Given the description of an element on the screen output the (x, y) to click on. 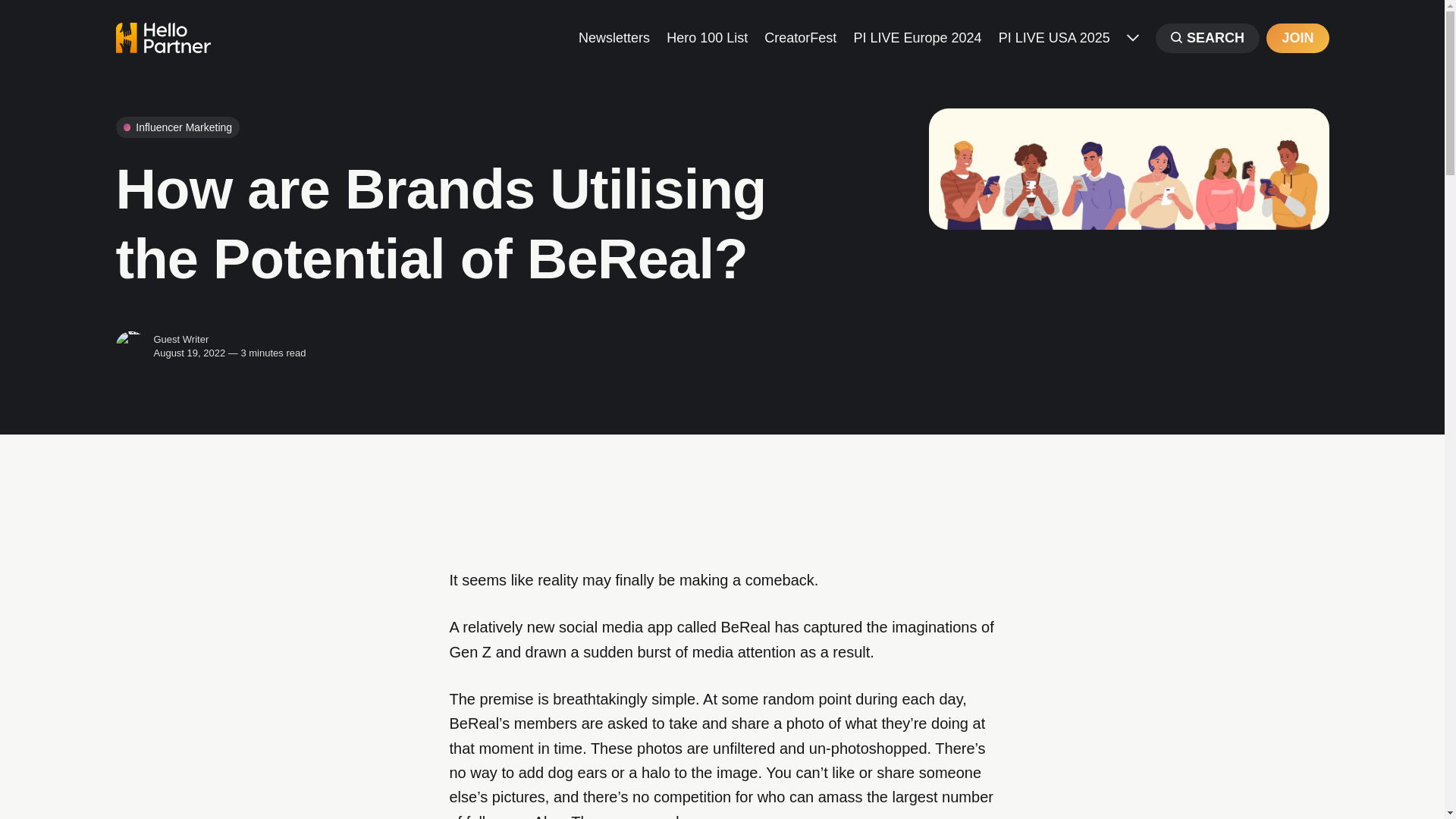
Influencer Marketing (177, 127)
Guest Writer (130, 346)
PI LIVE USA 2025 (1053, 37)
Influencer Marketing (177, 127)
Guest Writer (180, 338)
Newsletters (613, 37)
CreatorFest (799, 37)
JOIN (1296, 37)
PI LIVE Europe 2024 (917, 37)
Hero 100 List (707, 37)
